Given the description of an element on the screen output the (x, y) to click on. 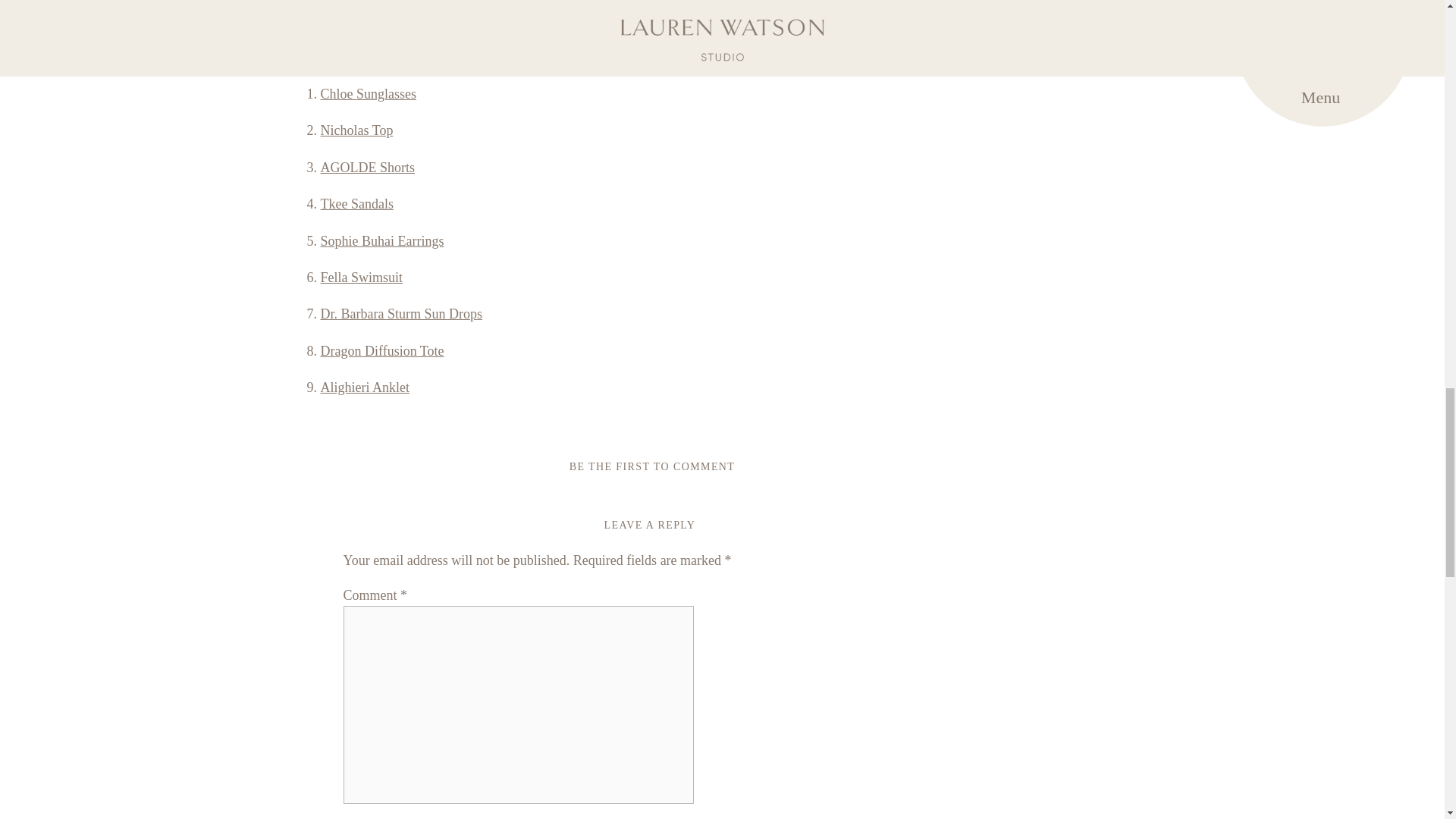
Tkee Sandals (356, 203)
Sophie Buhai Earrings (382, 240)
Dr. Barbara Sturm Sun Drops (400, 313)
Chloe Sunglasses (368, 93)
Dragon Diffusion Tote (382, 350)
BE THE FIRST TO COMMENT (652, 466)
Alighieri Anklet (364, 387)
Fella Swimsuit (361, 277)
Nicholas Top (356, 130)
AGOLDE Shorts (367, 167)
